Given the description of an element on the screen output the (x, y) to click on. 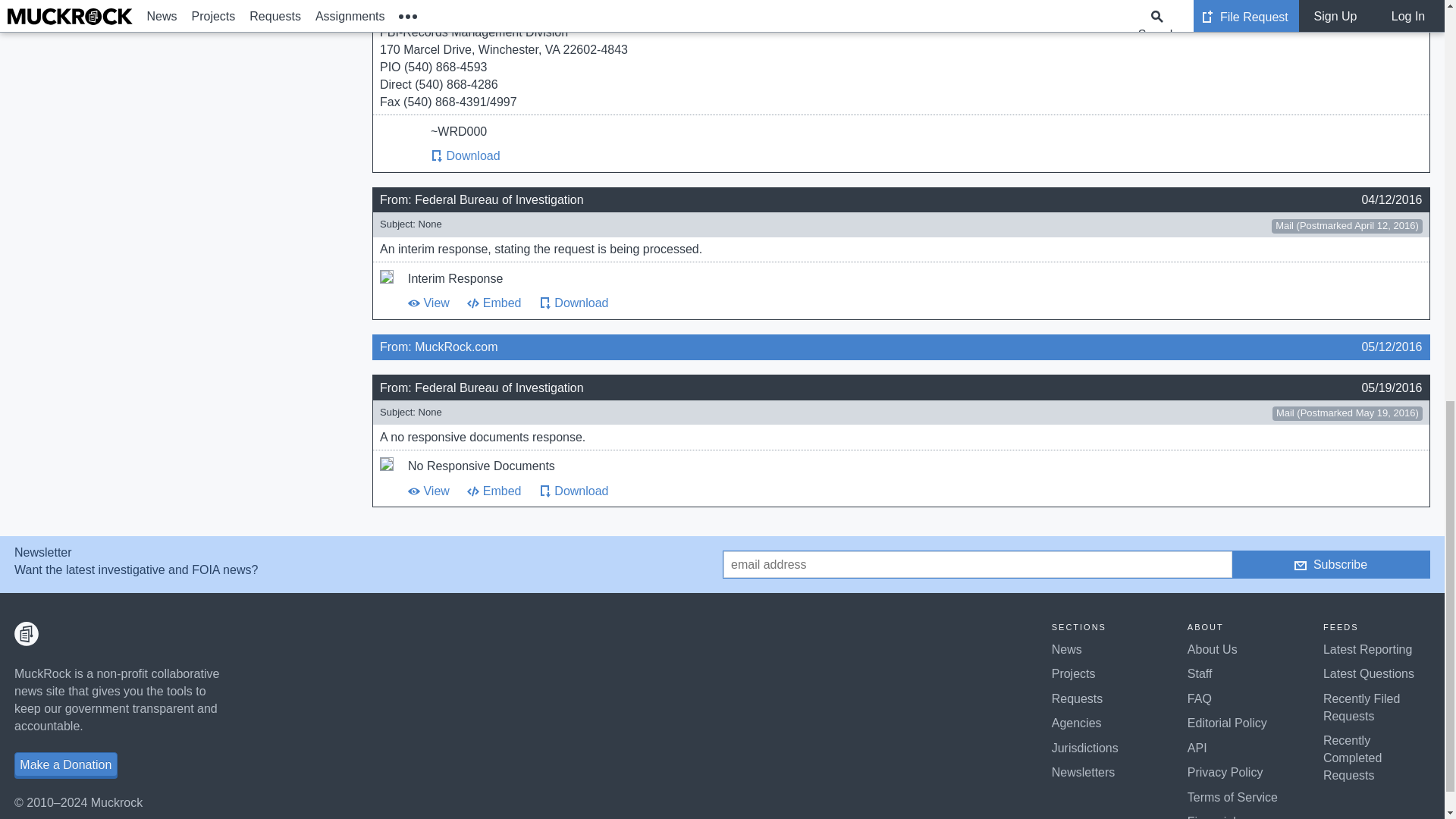
Download An arrow pointing down (544, 303)
Email Icon resembling an envelope. (1300, 565)
Download An arrow pointing down (544, 491)
Download An arrow pointing down Download (573, 302)
View An eye View (428, 302)
Download An arrow pointing down Download (465, 155)
Download An arrow pointing down (436, 155)
View An eye (413, 491)
View An eye (413, 303)
